Given the description of an element on the screen output the (x, y) to click on. 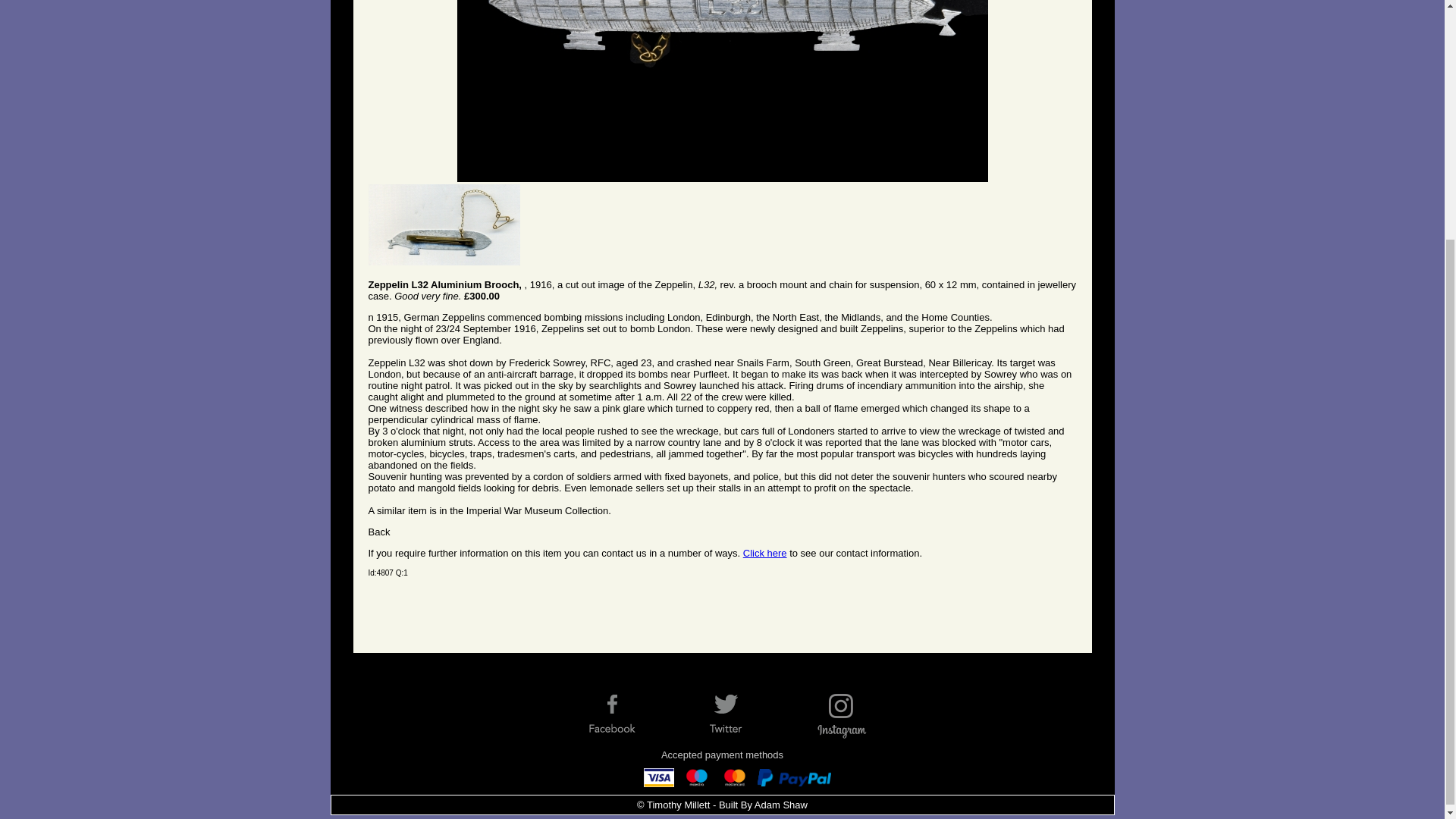
Instagram (851, 713)
Twitter (737, 713)
Facebook (624, 713)
Back (379, 531)
Click here (764, 552)
